Given the description of an element on the screen output the (x, y) to click on. 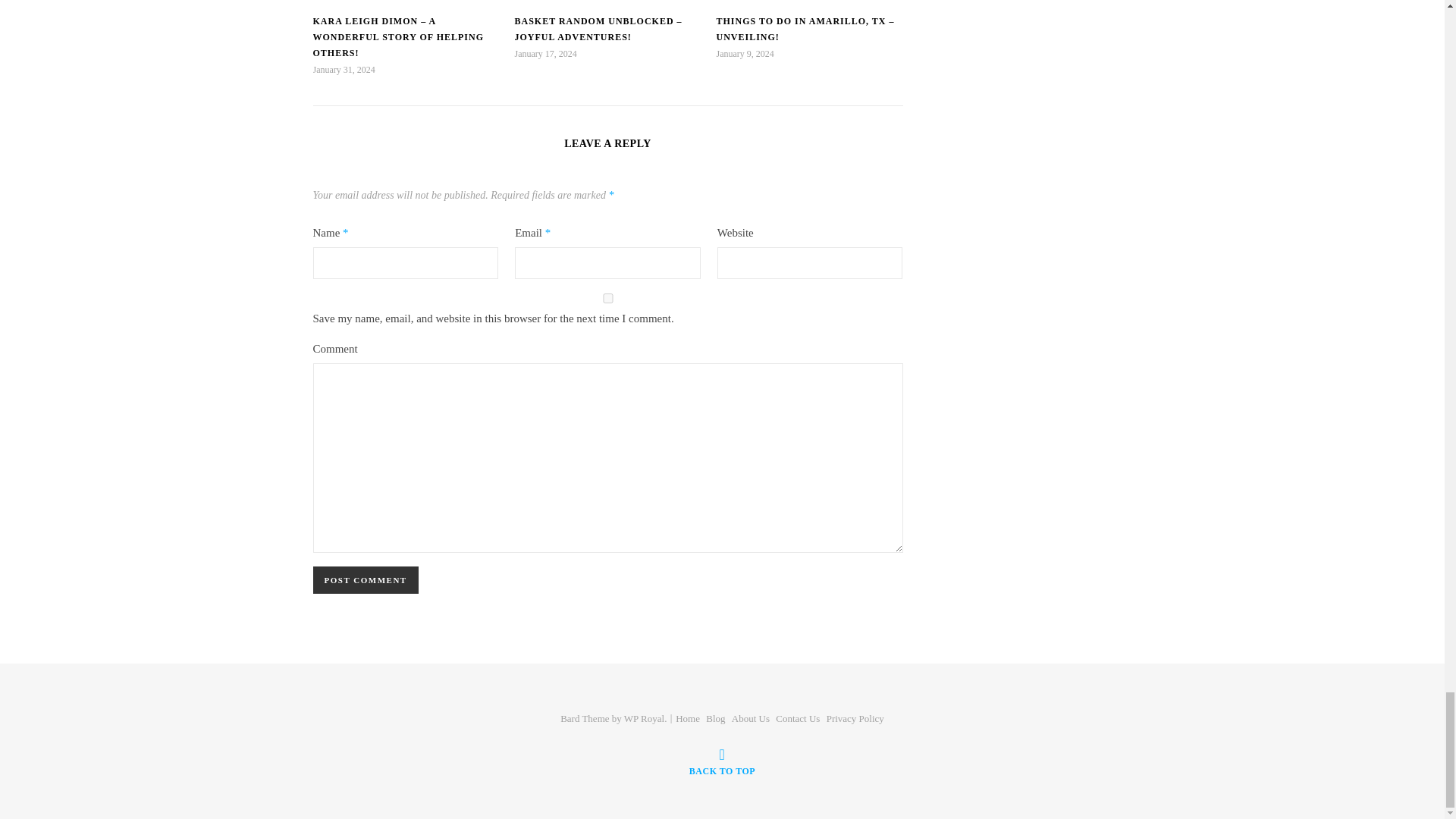
yes (607, 298)
BACK TO TOP (722, 761)
Post Comment (365, 579)
